Given the description of an element on the screen output the (x, y) to click on. 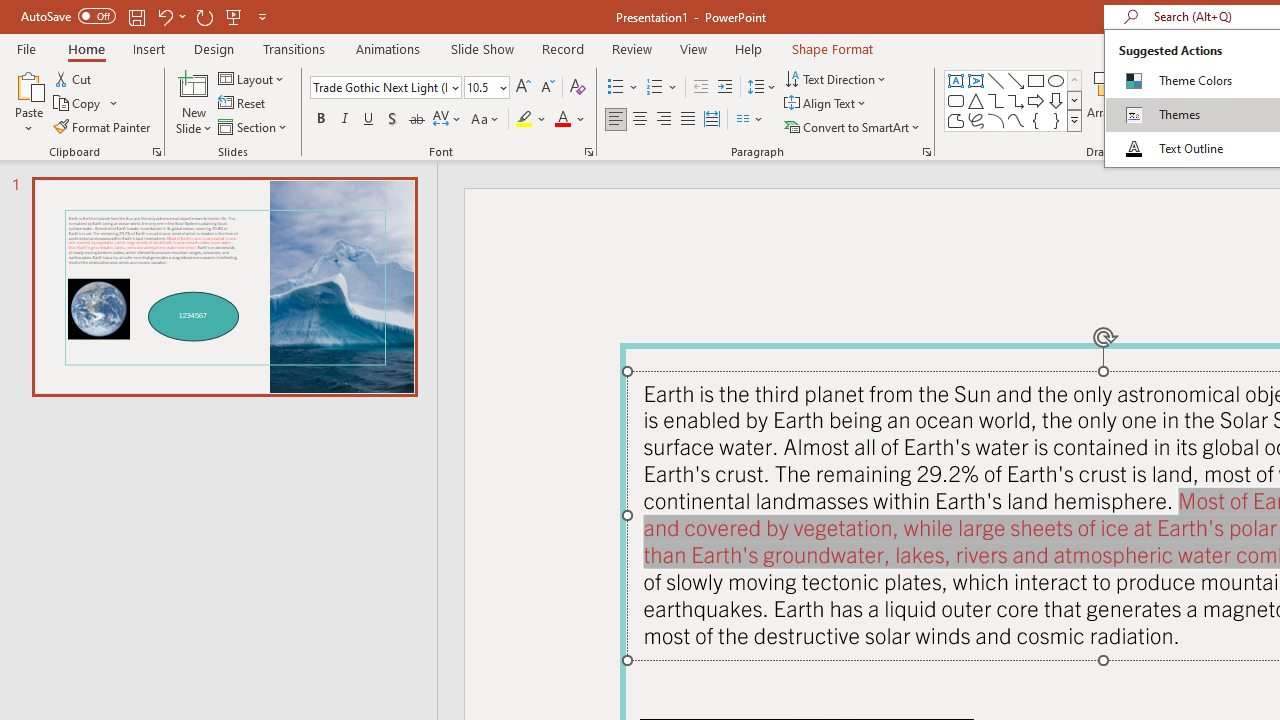
Center (639, 119)
Font Color Red (562, 119)
